Given the description of an element on the screen output the (x, y) to click on. 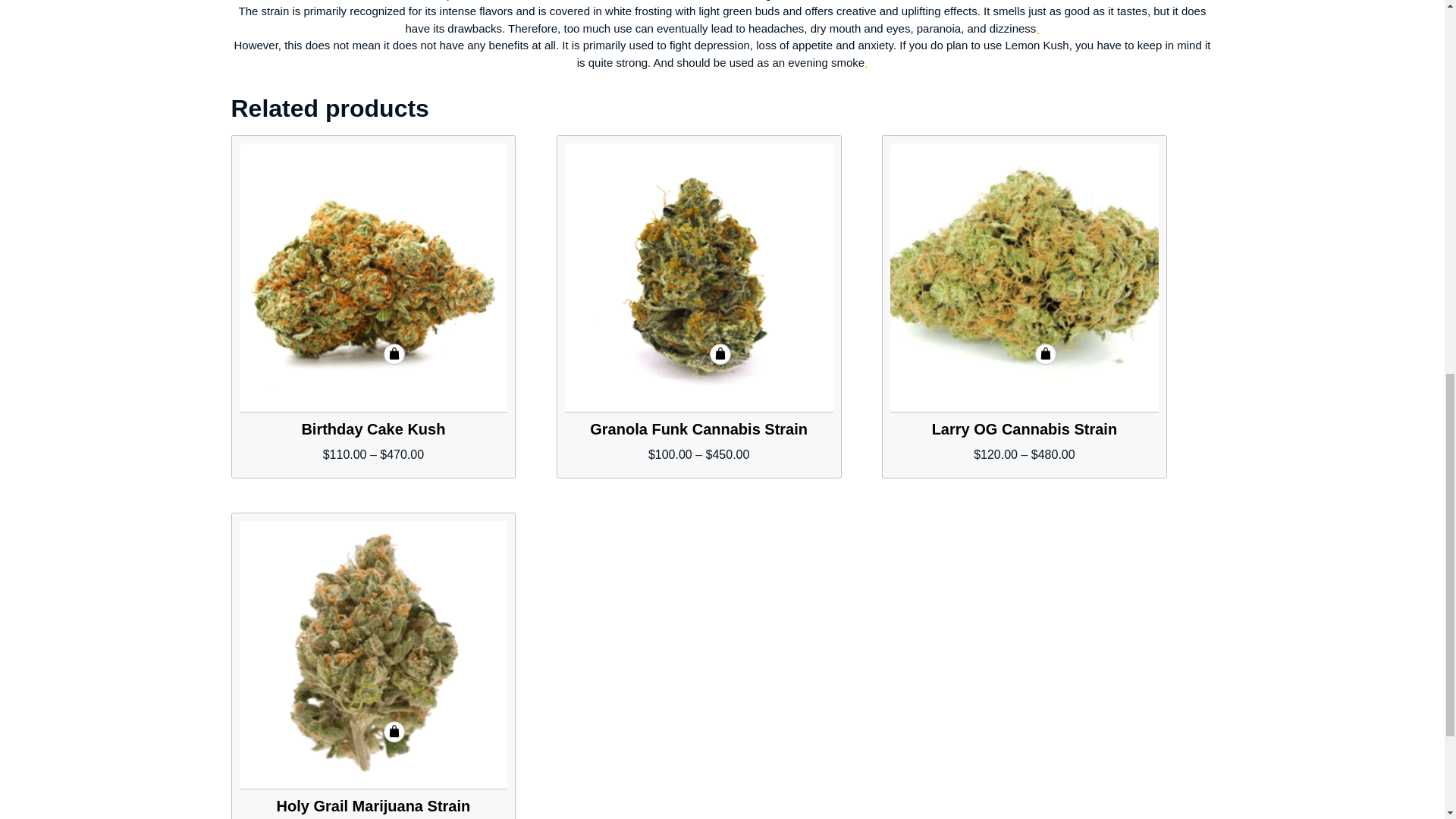
Holy Grail Marijuana Strain (374, 655)
Larry OG Cannabis Strain (1023, 277)
Birthday Cake Kush (374, 277)
Granola Funk Cannabis Strain (698, 277)
